Given the description of an element on the screen output the (x, y) to click on. 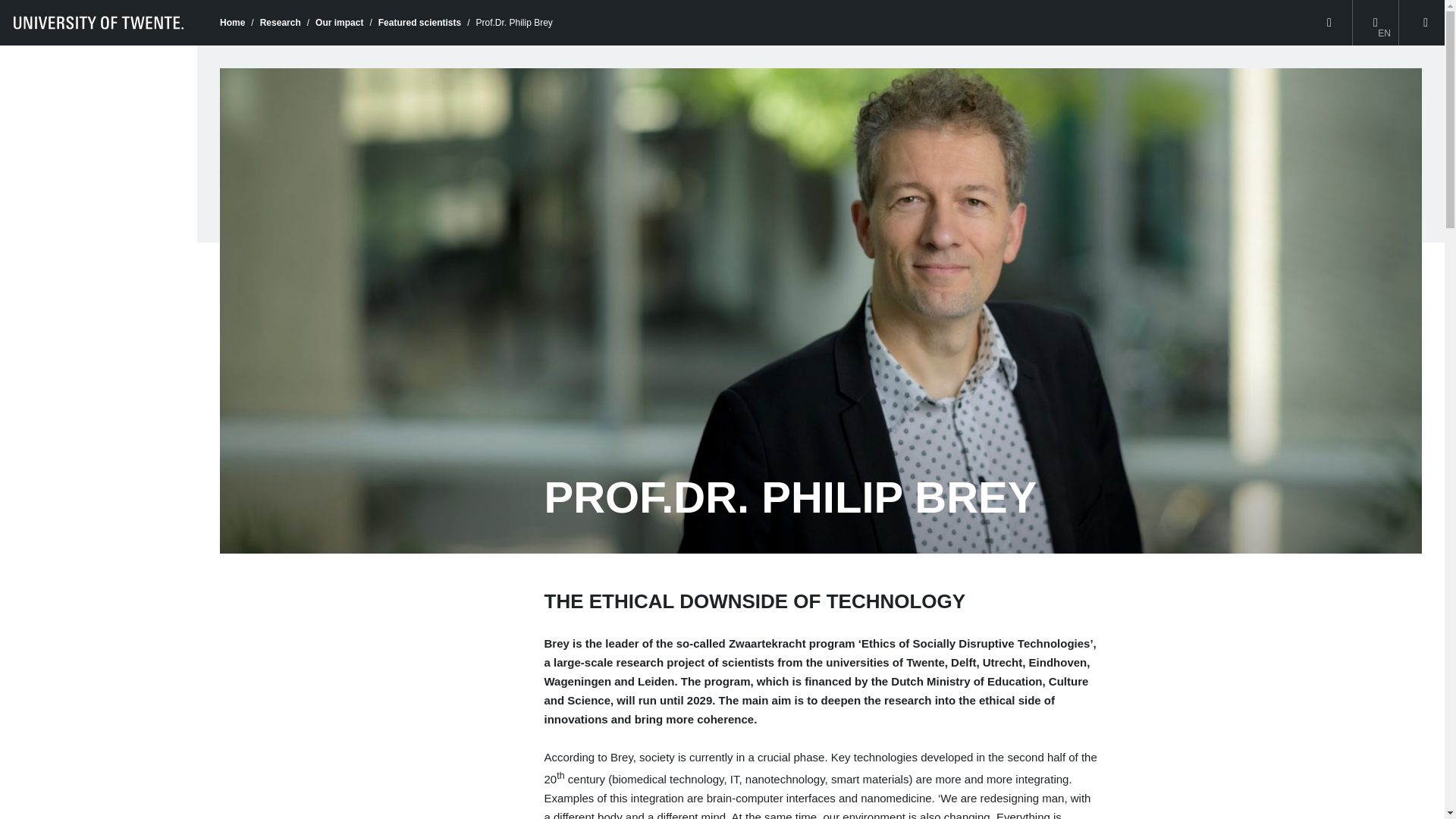
Home (231, 22)
Featured scientists (419, 22)
Our impact (338, 22)
Research (280, 22)
